Given the description of an element on the screen output the (x, y) to click on. 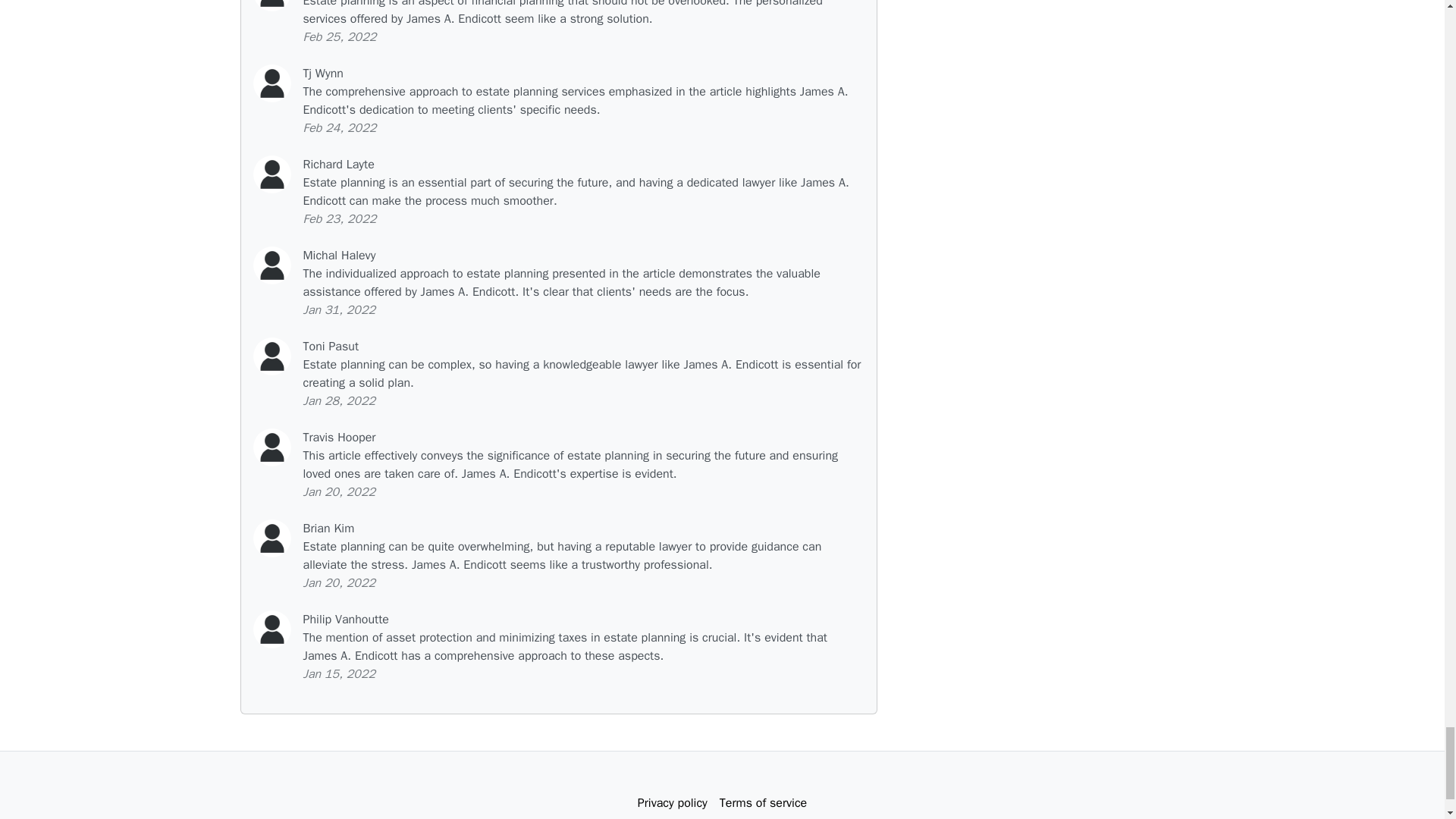
Terms of service (762, 802)
Privacy policy (672, 802)
